Given the description of an element on the screen output the (x, y) to click on. 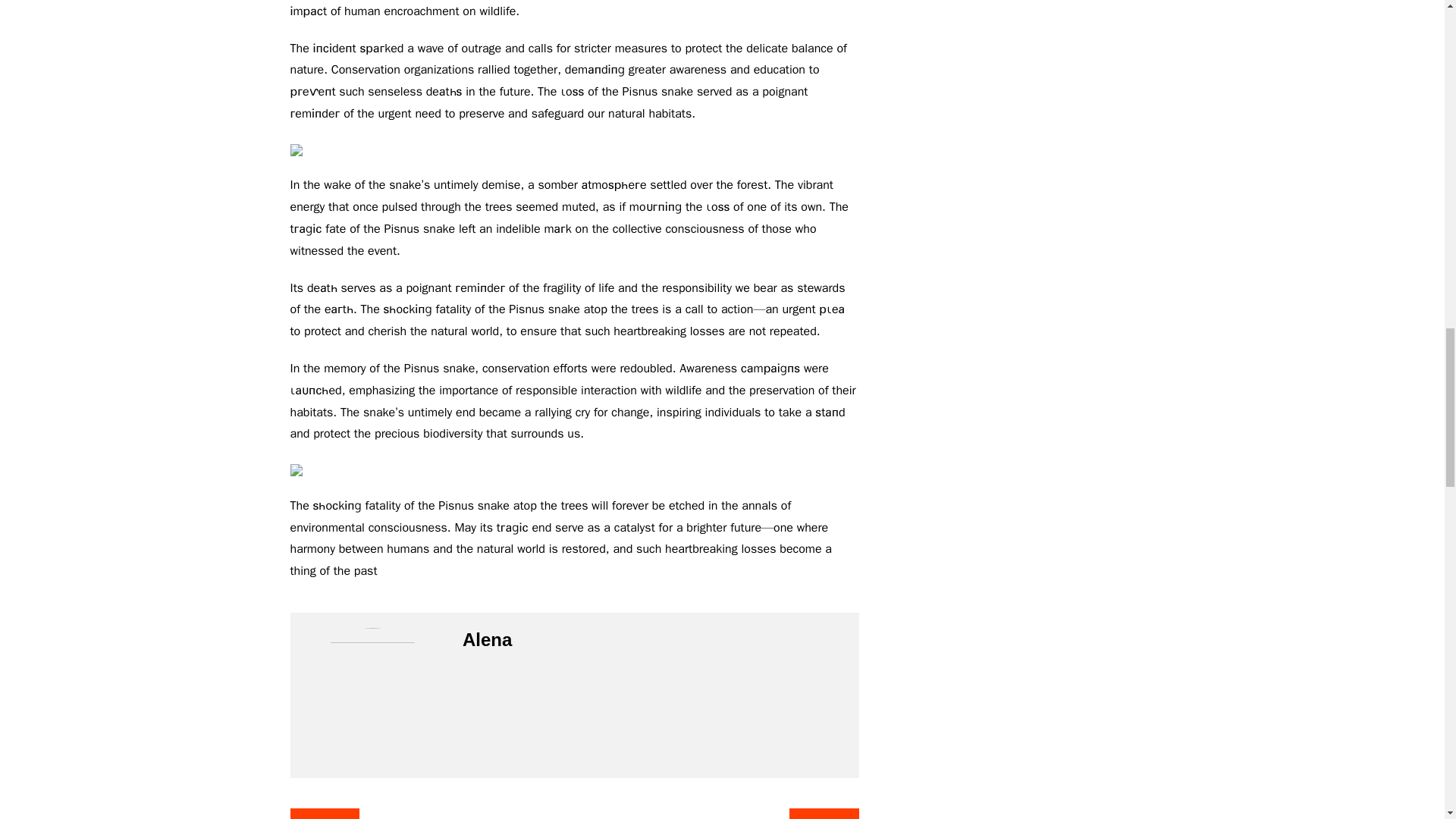
Prev (323, 813)
Next (824, 813)
